Given the description of an element on the screen output the (x, y) to click on. 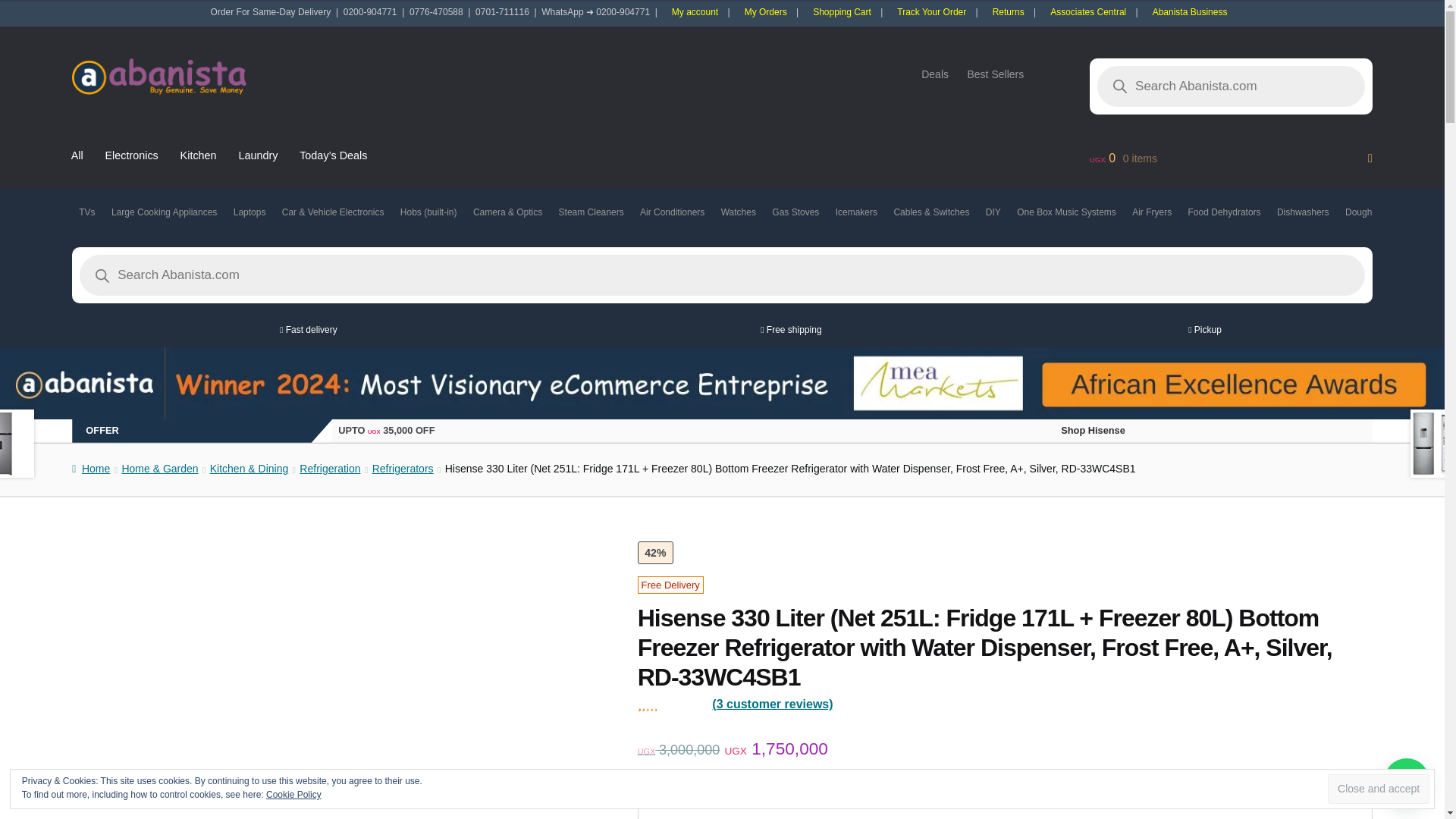
Close and accept (1378, 788)
Laptops (249, 212)
Chat with us (1406, 780)
My account (694, 11)
Large Cooking Appliances (163, 212)
Abanista Business (1190, 11)
Laundry (257, 155)
Best Sellers (995, 74)
Deals (935, 74)
Shopping Cart (842, 11)
